Given the description of an element on the screen output the (x, y) to click on. 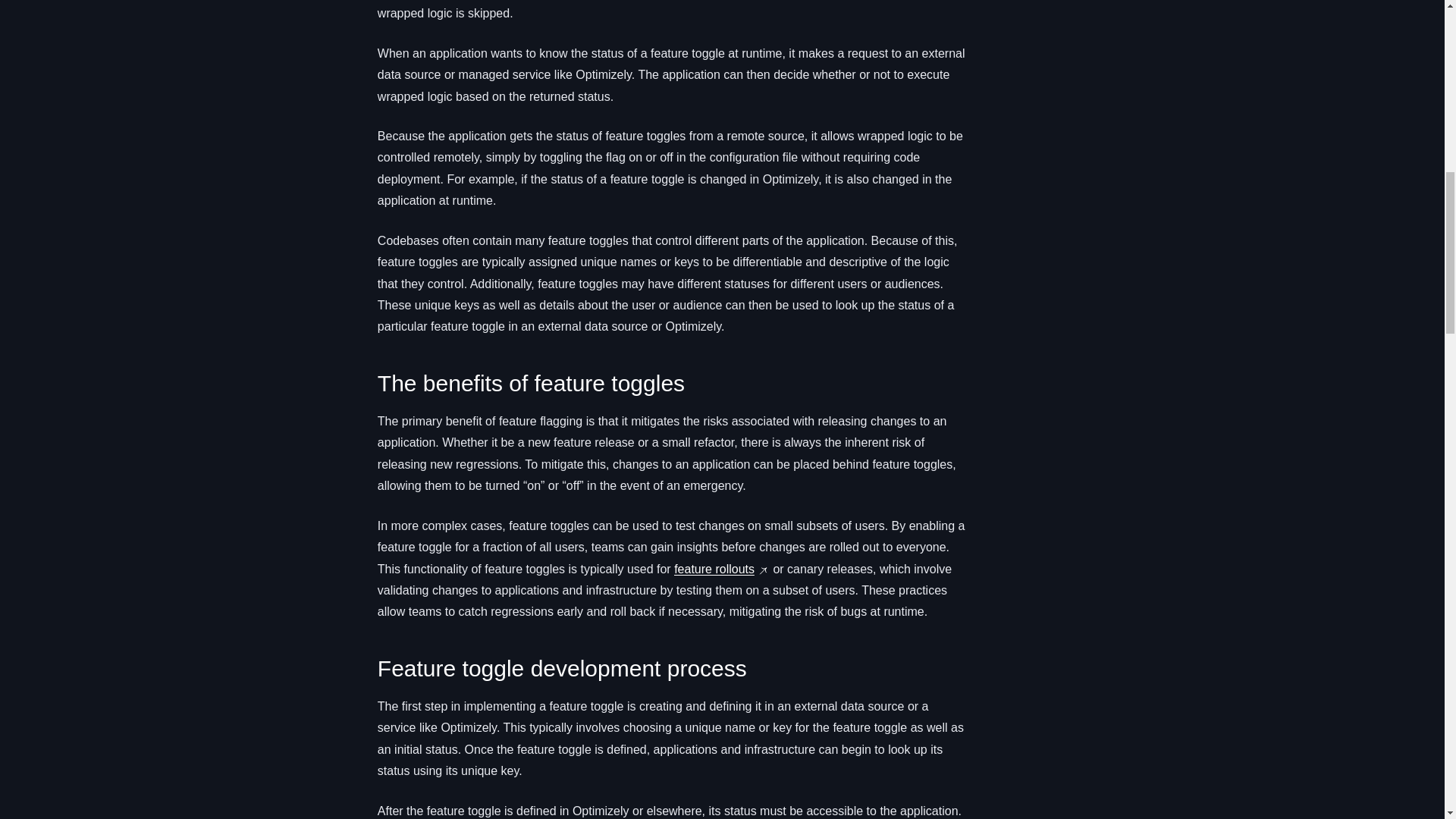
feature rollouts (714, 568)
